Given the description of an element on the screen output the (x, y) to click on. 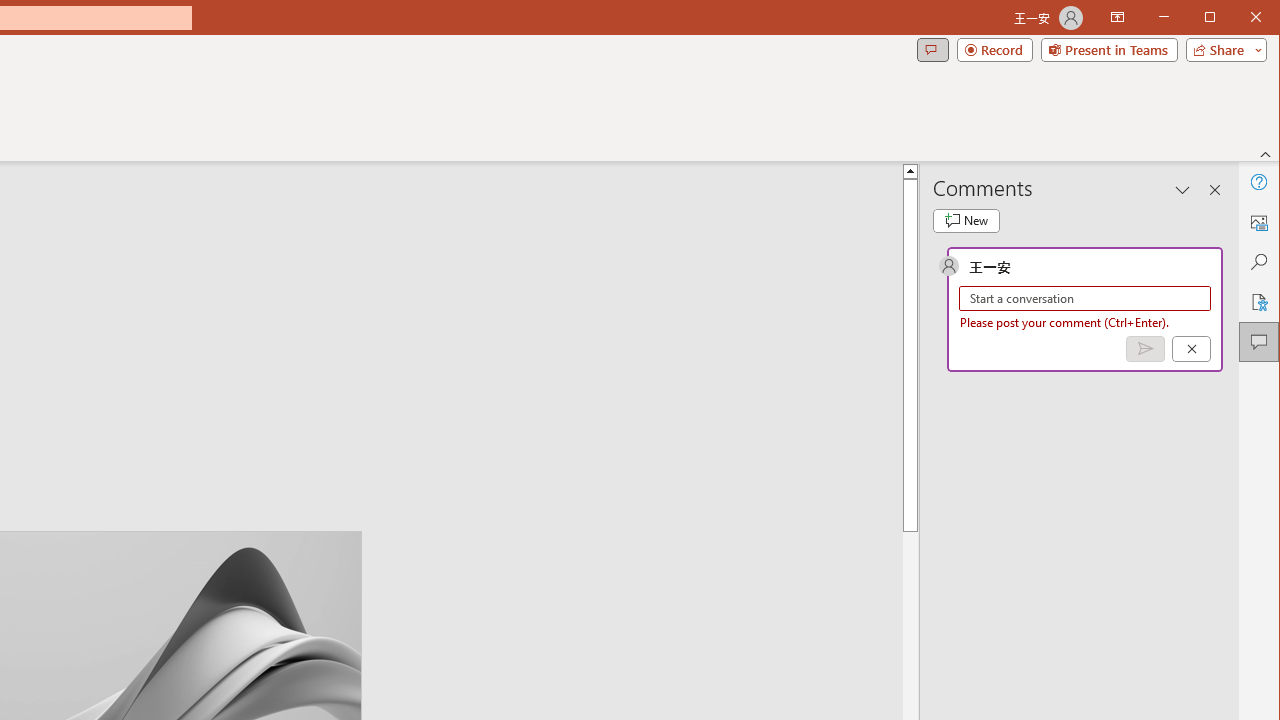
Post comment (Ctrl + Enter) (1145, 349)
Start a conversation (1085, 298)
